Given the description of an element on the screen output the (x, y) to click on. 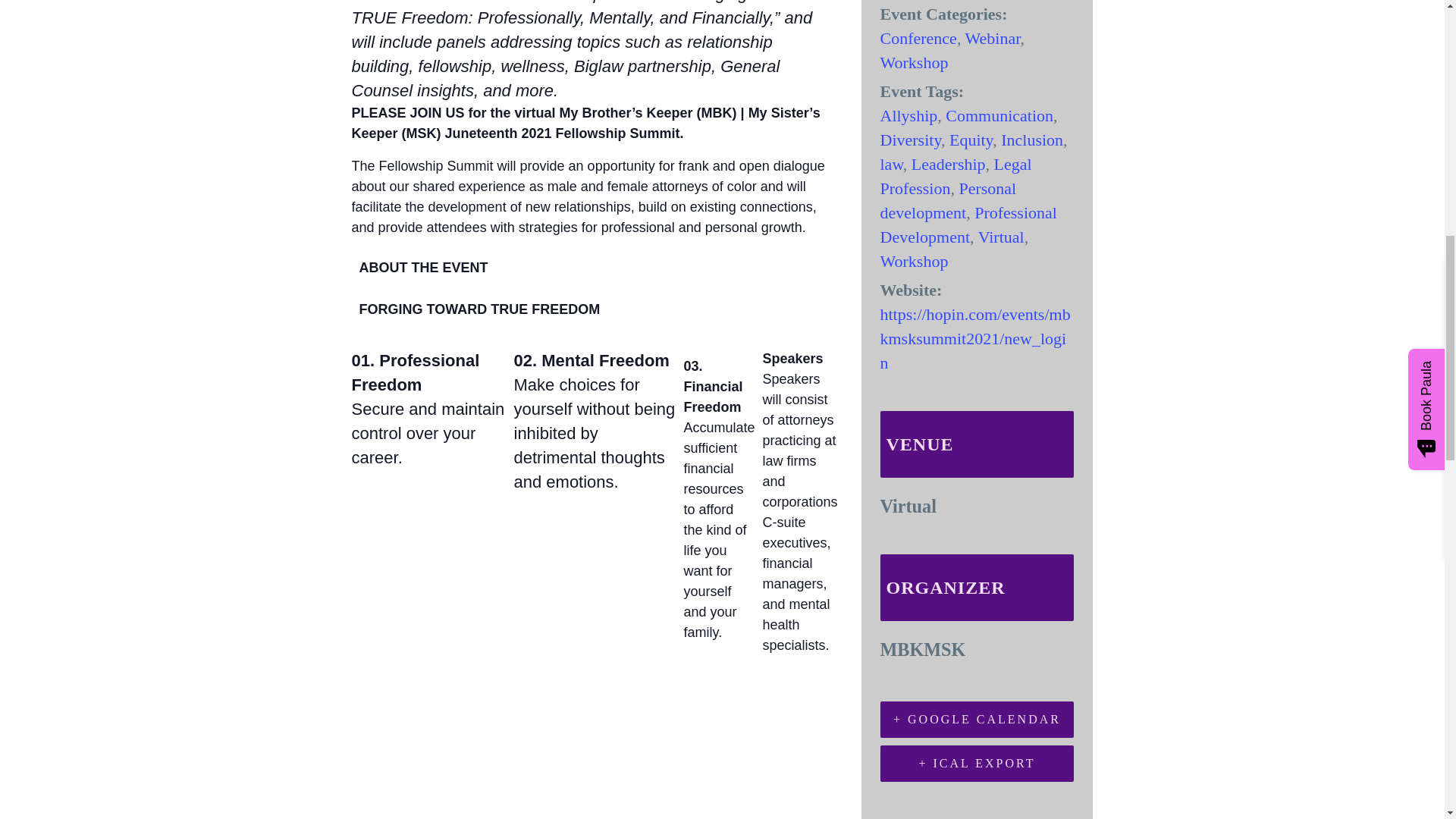
Add to Google Calendar (976, 719)
Webinar (991, 37)
Equity (970, 139)
Workshop (913, 62)
Conference (917, 37)
Communication (998, 115)
Allyship (908, 115)
Diversity (909, 139)
